Given the description of an element on the screen output the (x, y) to click on. 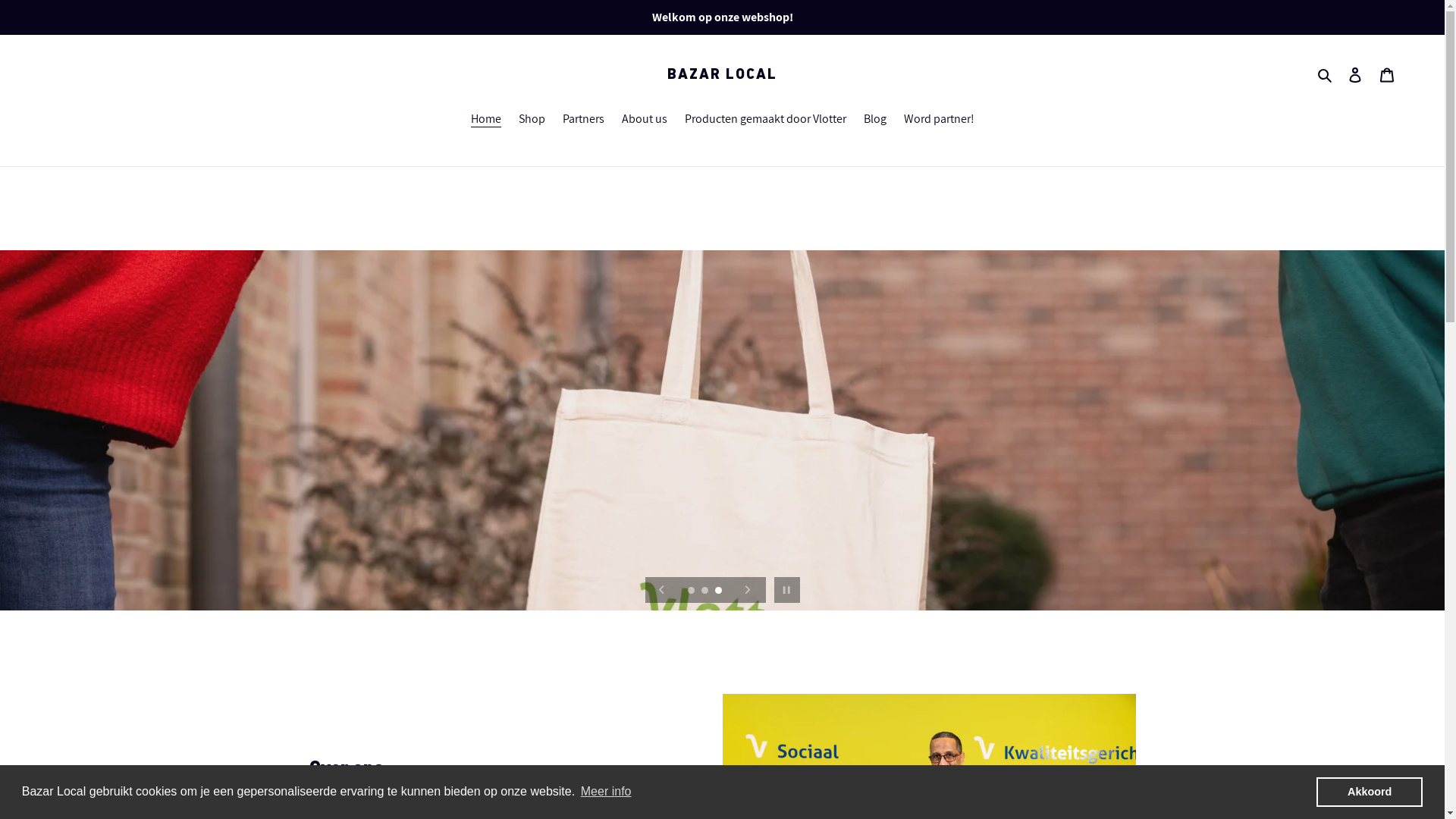
Meer info Element type: text (605, 791)
Aanmelden Element type: text (1355, 74)
Producten gemaakt door Vlotter Element type: text (764, 119)
Winkelwagen Element type: text (1386, 74)
Word partner! Element type: text (939, 119)
Zoeken Element type: text (1325, 74)
Blog Element type: text (874, 119)
Home Element type: text (485, 119)
Akkoord Element type: text (1369, 791)
About us Element type: text (644, 119)
Shop Element type: text (531, 119)
Partners Element type: text (583, 119)
BAZAR LOCAL Element type: text (722, 74)
Diavoorstelling pauzeren Element type: text (786, 589)
